Given the description of an element on the screen output the (x, y) to click on. 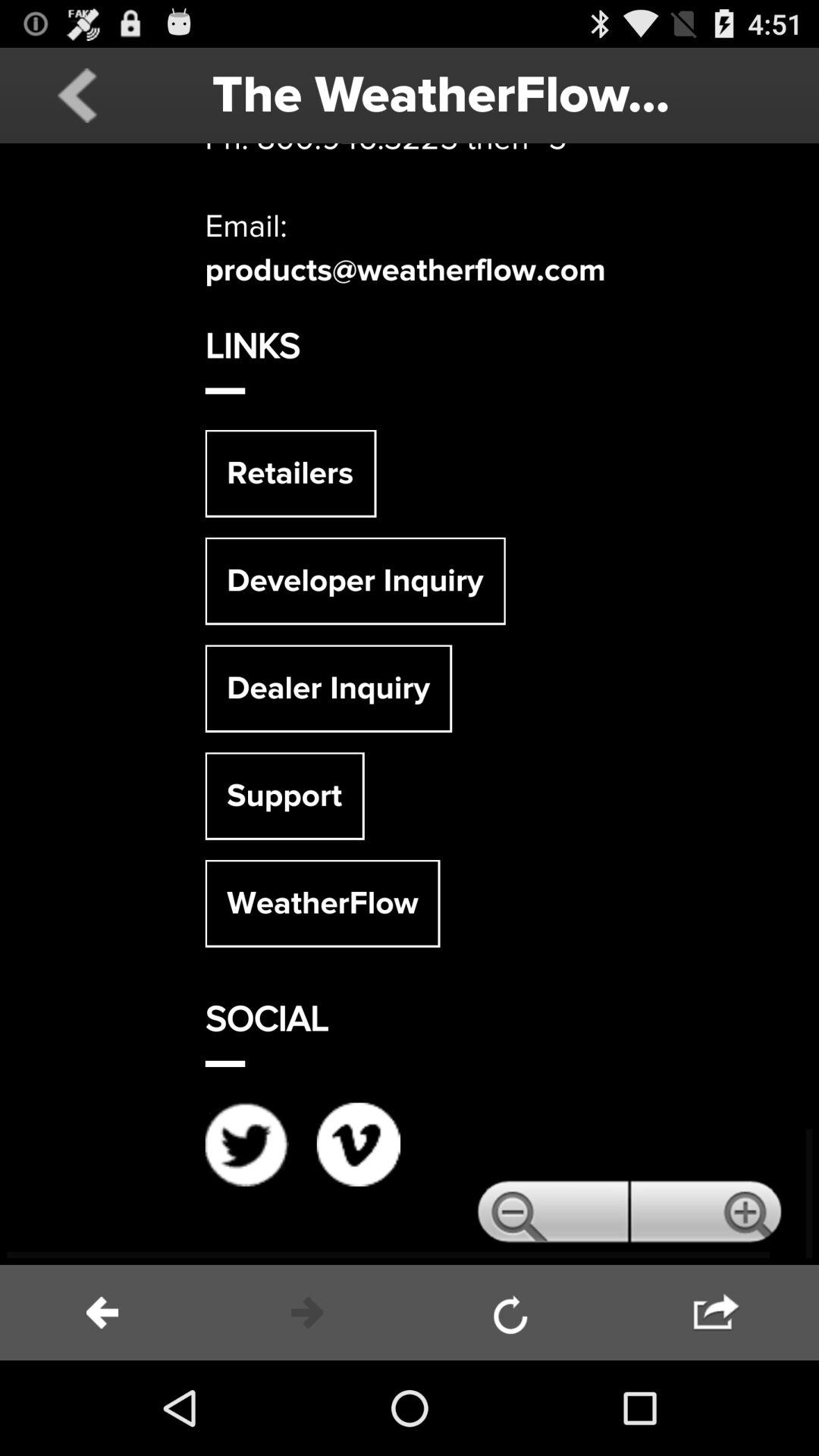
refresh (511, 1312)
